Given the description of an element on the screen output the (x, y) to click on. 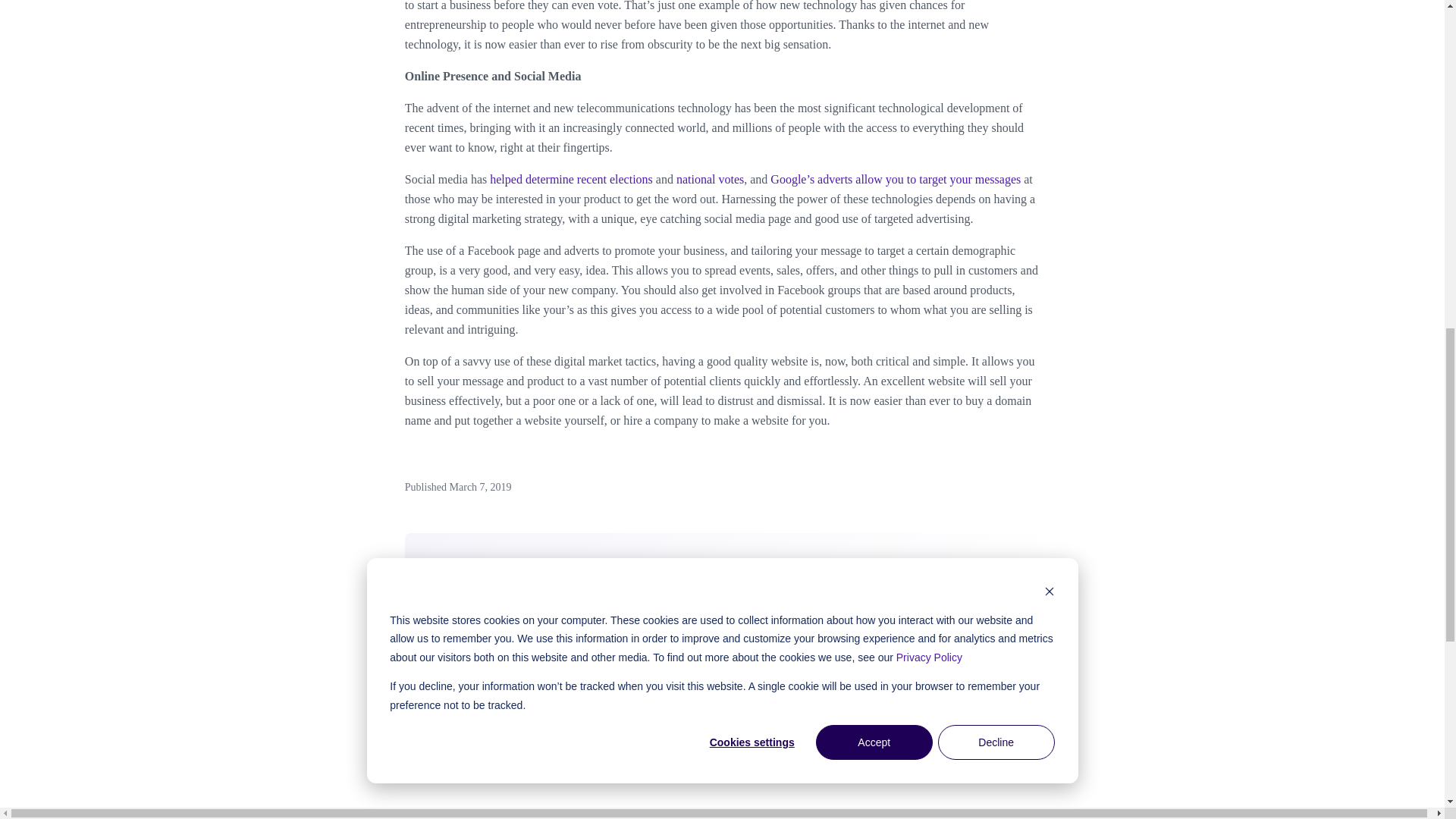
morgan-franklin (554, 704)
